Given the description of an element on the screen output the (x, y) to click on. 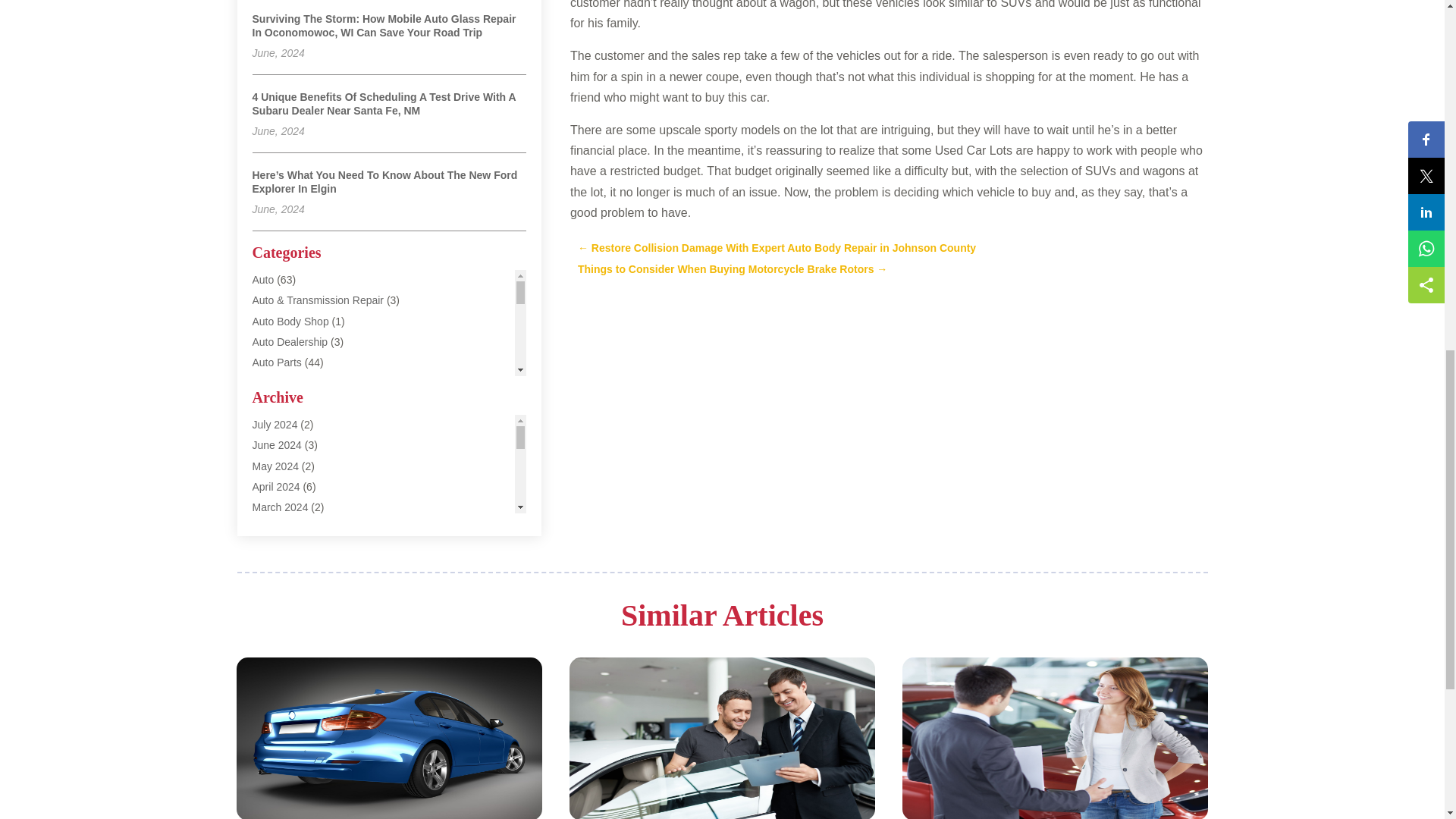
Automobile (277, 444)
Automotive (277, 485)
Car Rental (276, 651)
Auto Body Shop (290, 321)
Car Dealership (286, 609)
Auto Dealership (289, 341)
Business (273, 568)
Auto Parts (276, 362)
Auto Repair Shop (293, 403)
Car Restoration Service (308, 692)
Automobile Maintenance (309, 465)
Auto Repair (279, 382)
Auto (262, 279)
